Given the description of an element on the screen output the (x, y) to click on. 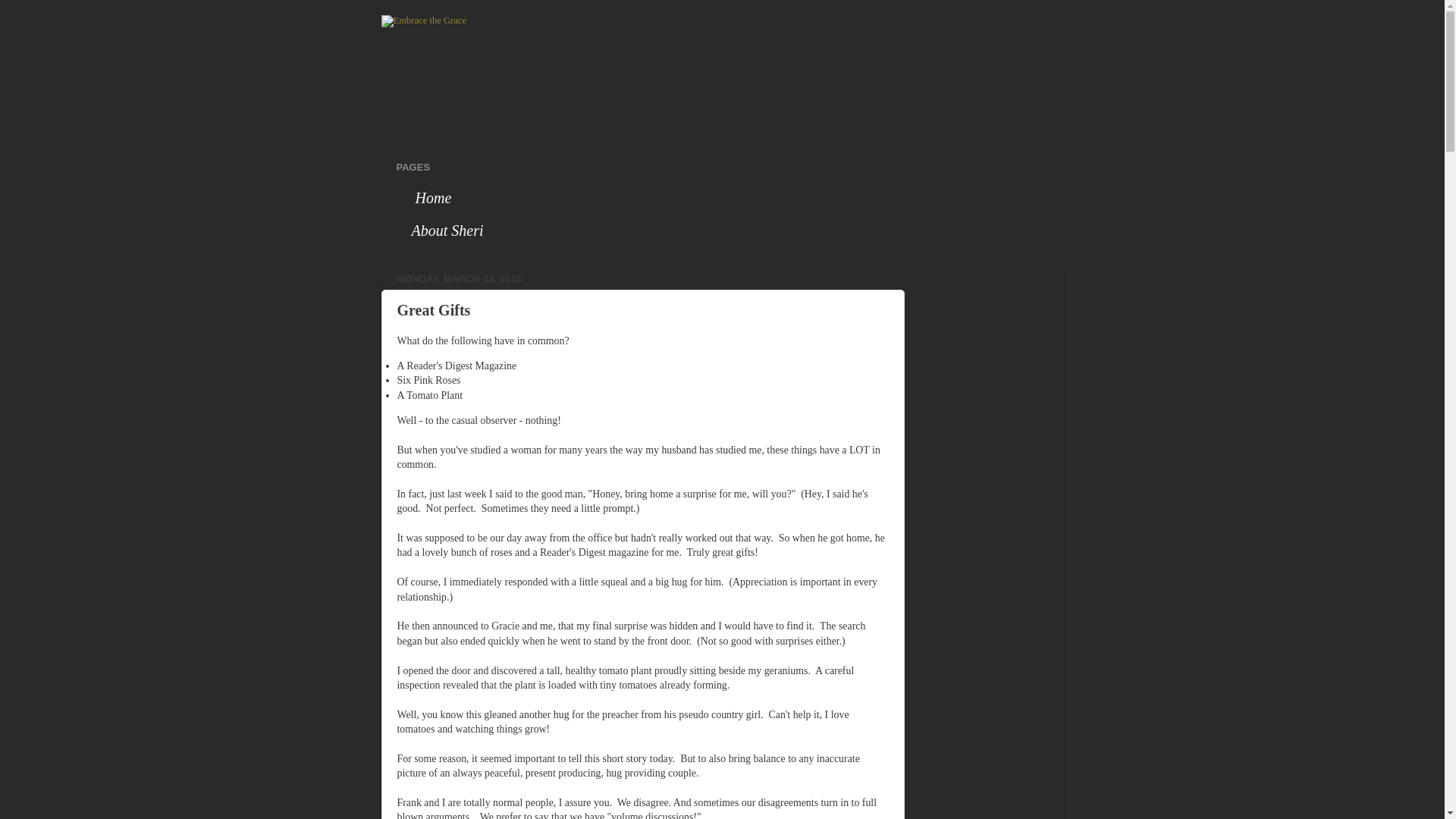
About Sheri (447, 230)
Home (431, 197)
